Given the description of an element on the screen output the (x, y) to click on. 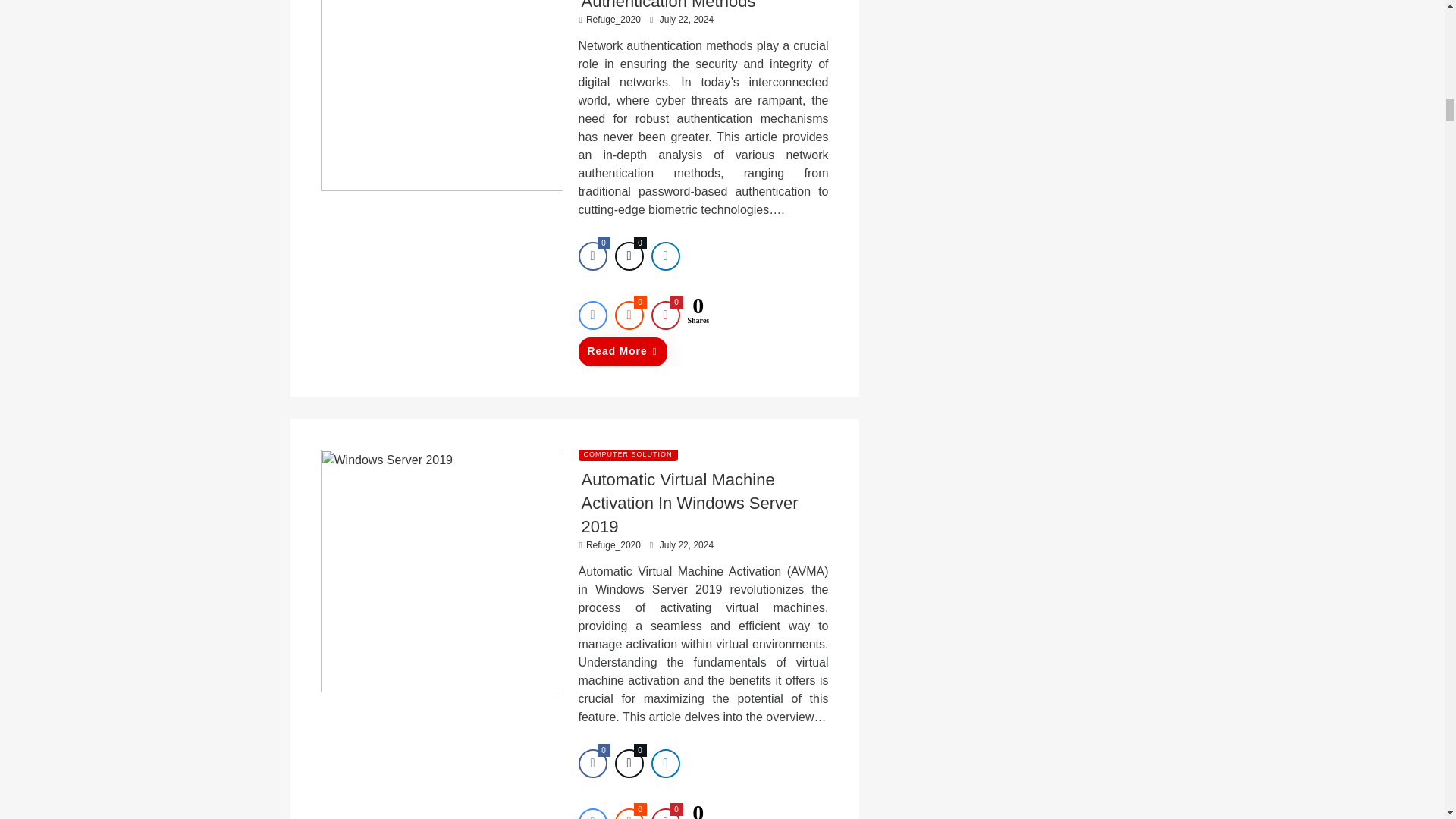
Analysis Of Network Authentication Methods 12 (441, 95)
